Given the description of an element on the screen output the (x, y) to click on. 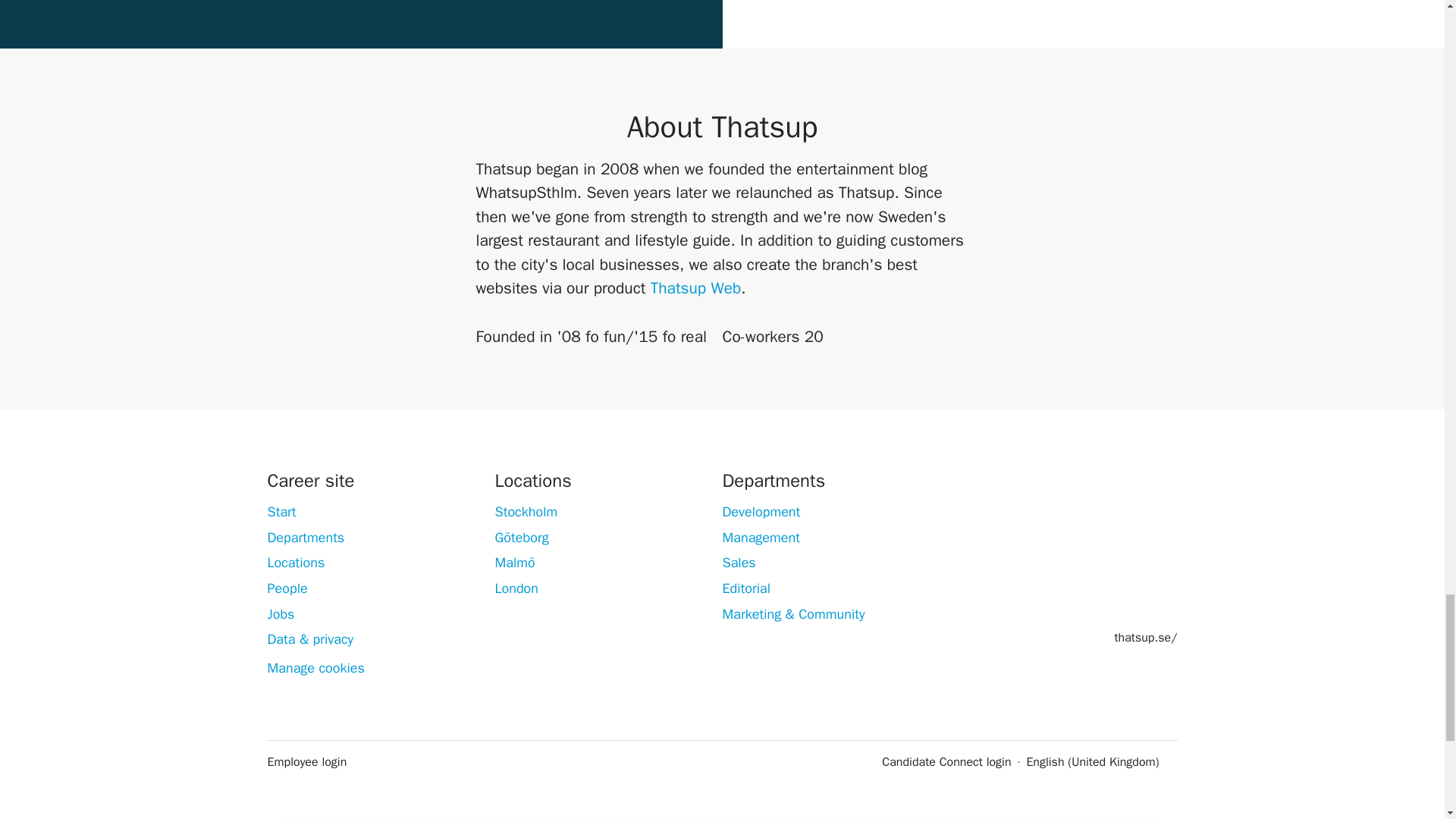
People (286, 588)
Change language (1101, 761)
Departments (304, 537)
Stockholm (526, 511)
Jobs (280, 613)
Manage cookies (315, 668)
Start (280, 511)
Locations (295, 562)
Thatsup Web (695, 288)
